Given the description of an element on the screen output the (x, y) to click on. 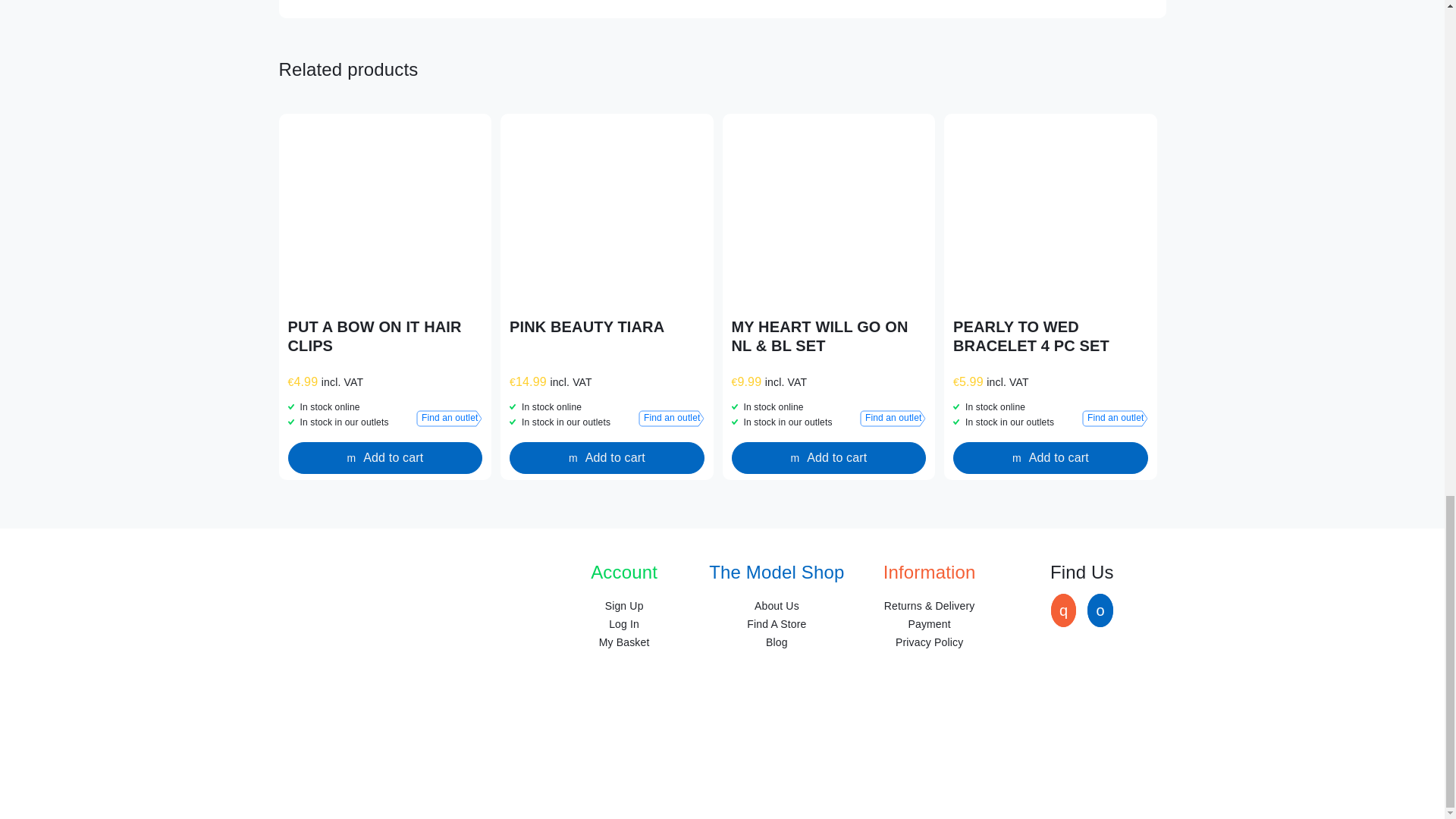
Find an outlet (1114, 418)
Find an outlet (893, 418)
Find an outlet (671, 418)
Find an outlet (448, 418)
